Given the description of an element on the screen output the (x, y) to click on. 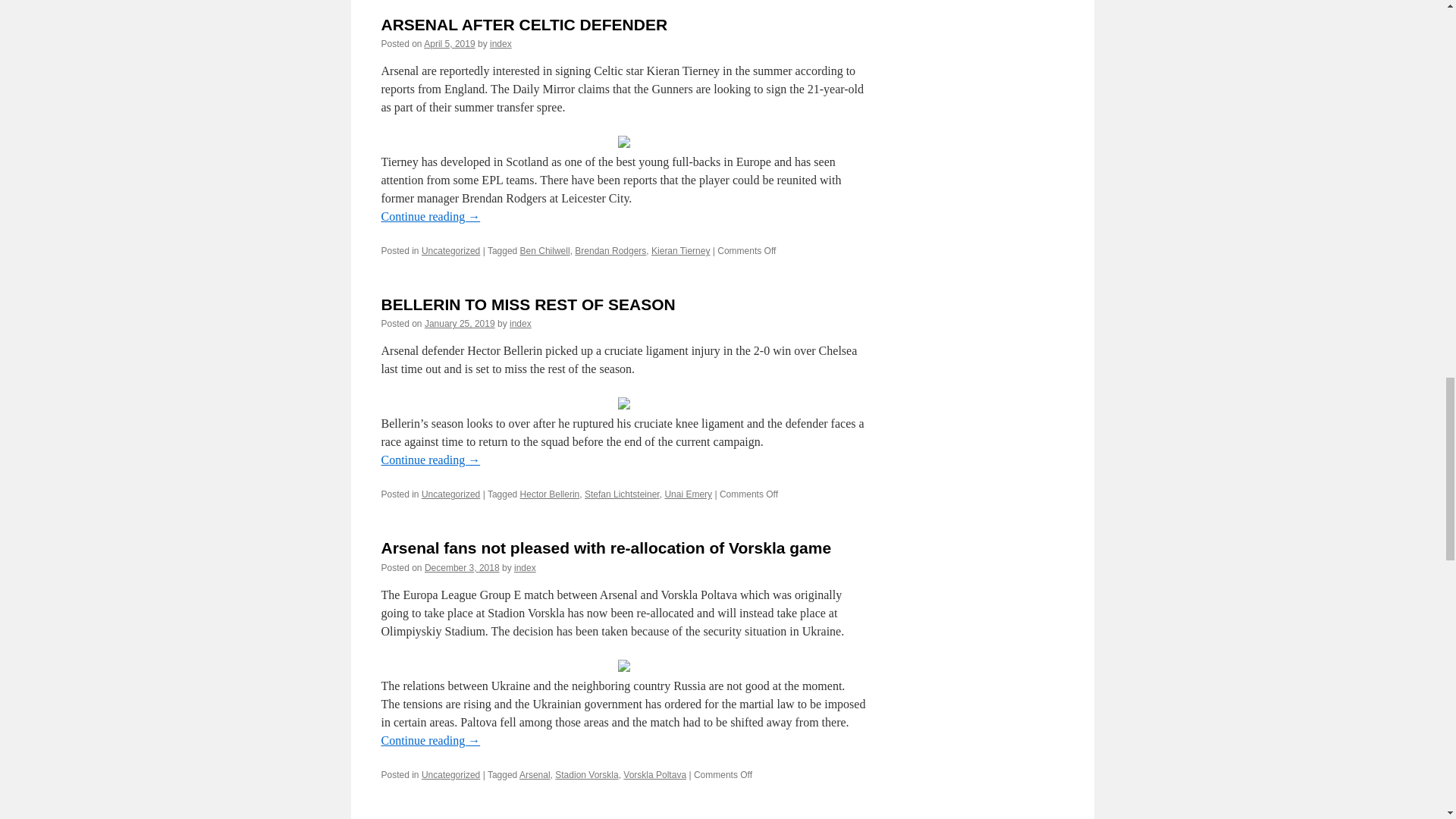
January 25, 2019 (460, 323)
View all posts by index (500, 43)
View all posts by index (524, 567)
Ben Chilwell (544, 250)
Brendan Rodgers (610, 250)
ARSENAL AFTER CELTIC DEFENDER (523, 24)
View all posts by index (520, 323)
BELLERIN TO MISS REST OF SEASON (527, 303)
April 5, 2019 (448, 43)
3:53 pm (462, 567)
